Given the description of an element on the screen output the (x, y) to click on. 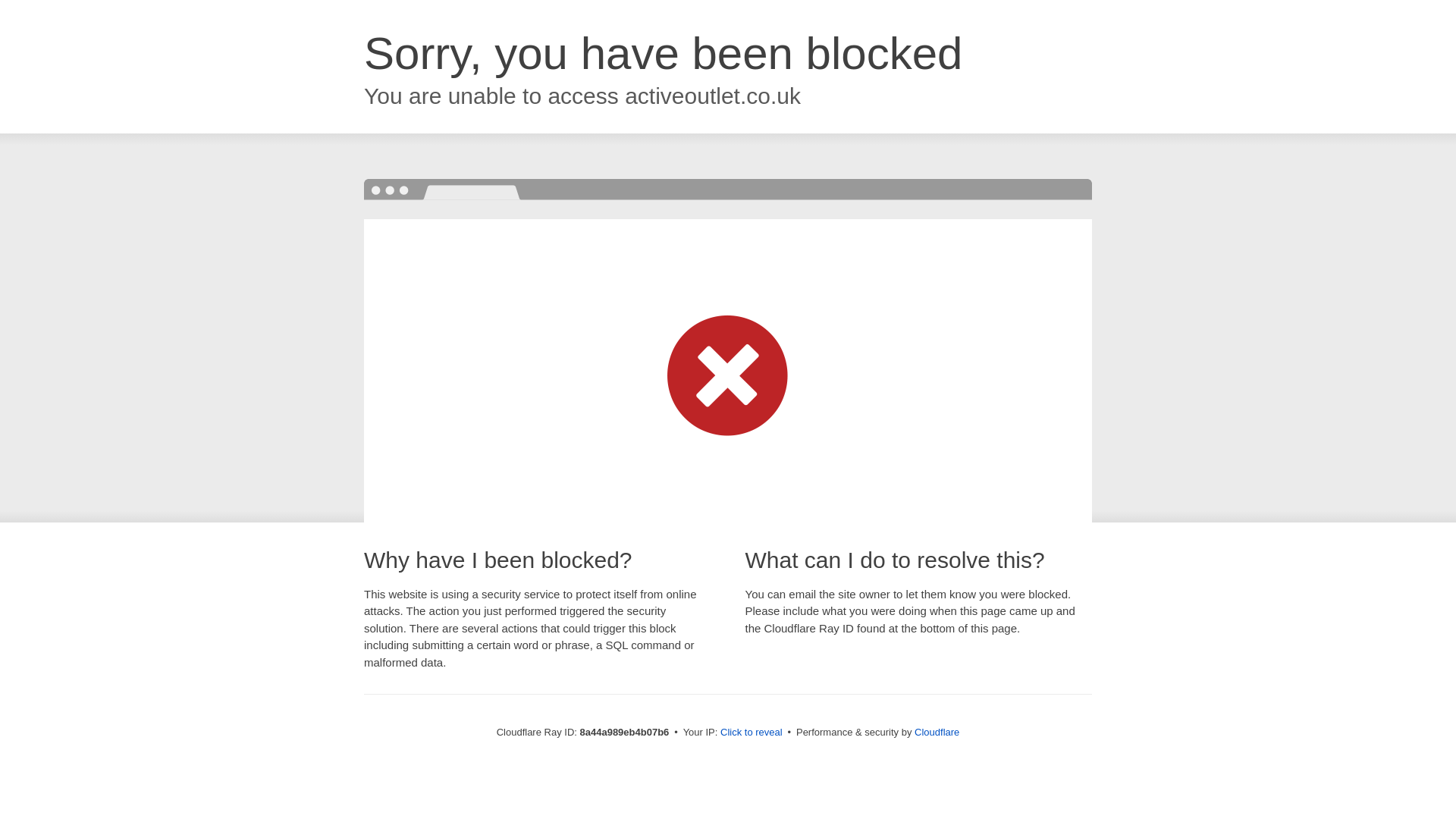
Cloudflare (936, 731)
Click to reveal (751, 732)
